Given the description of an element on the screen output the (x, y) to click on. 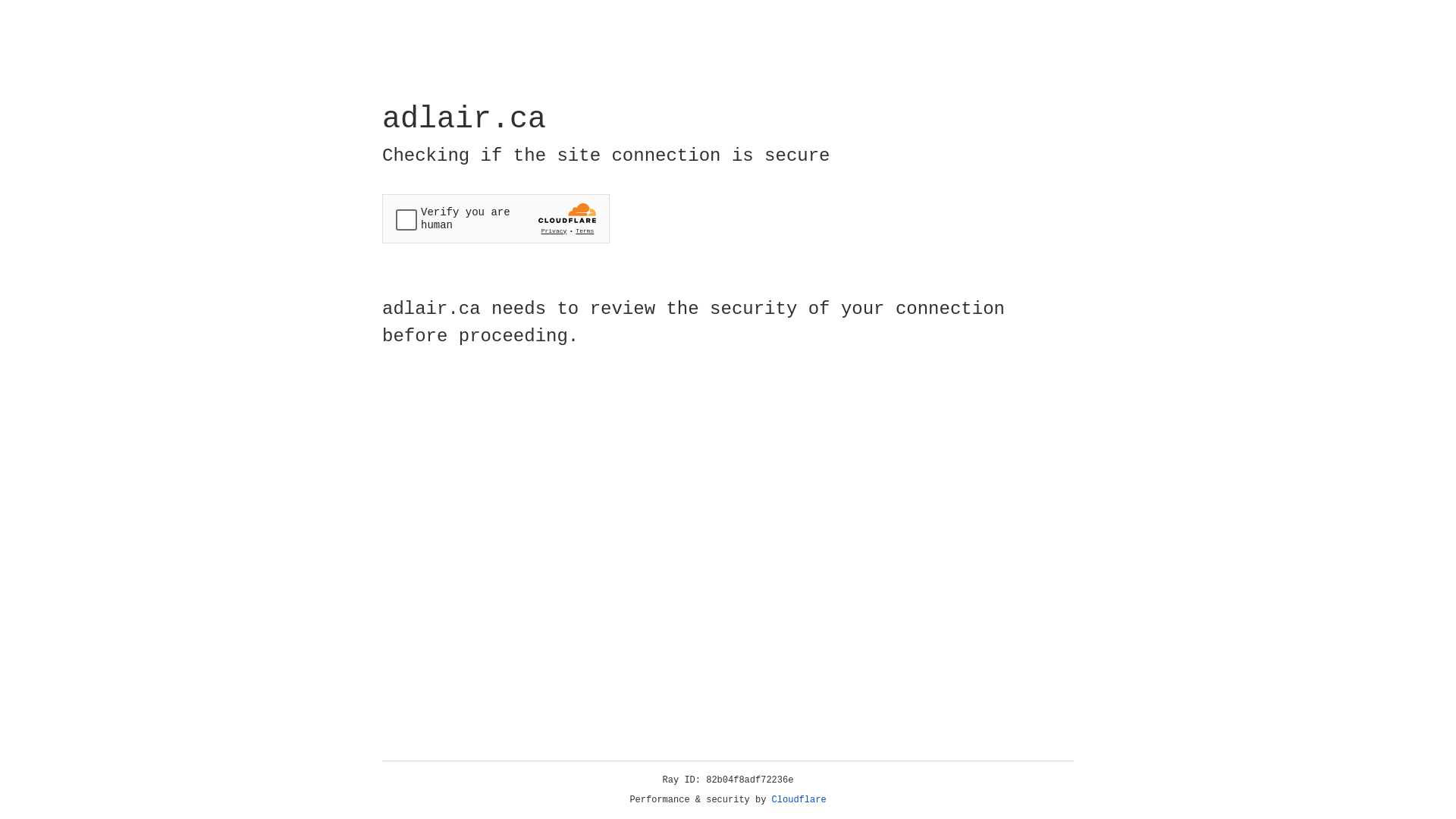
Widget containing a Cloudflare security challenge Element type: hover (495, 218)
Cloudflare Element type: text (798, 799)
